Given the description of an element on the screen output the (x, y) to click on. 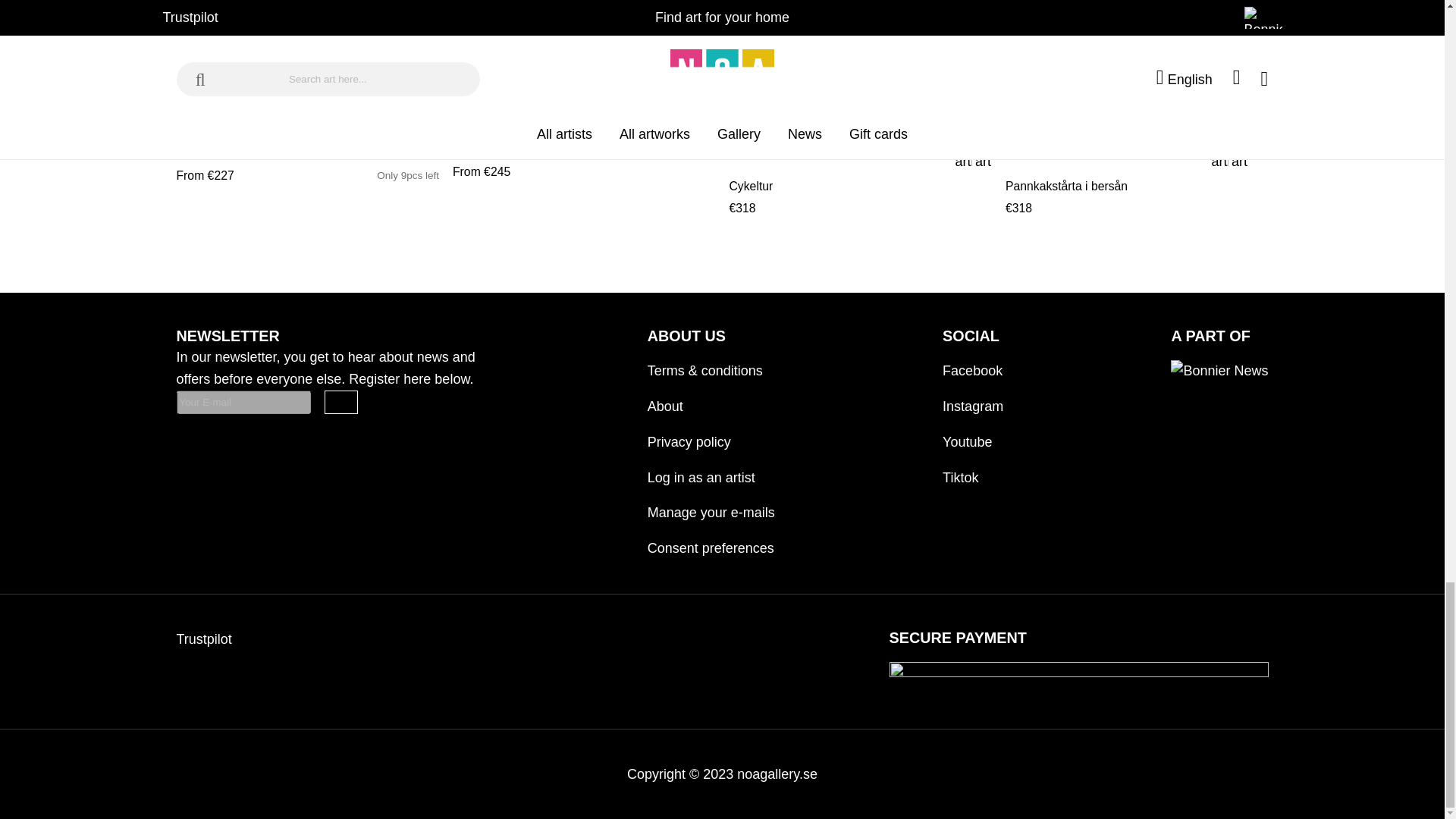
About (710, 399)
Log in as an artist (710, 470)
Privacy policy (710, 435)
Manage your e-mails (710, 506)
